Given the description of an element on the screen output the (x, y) to click on. 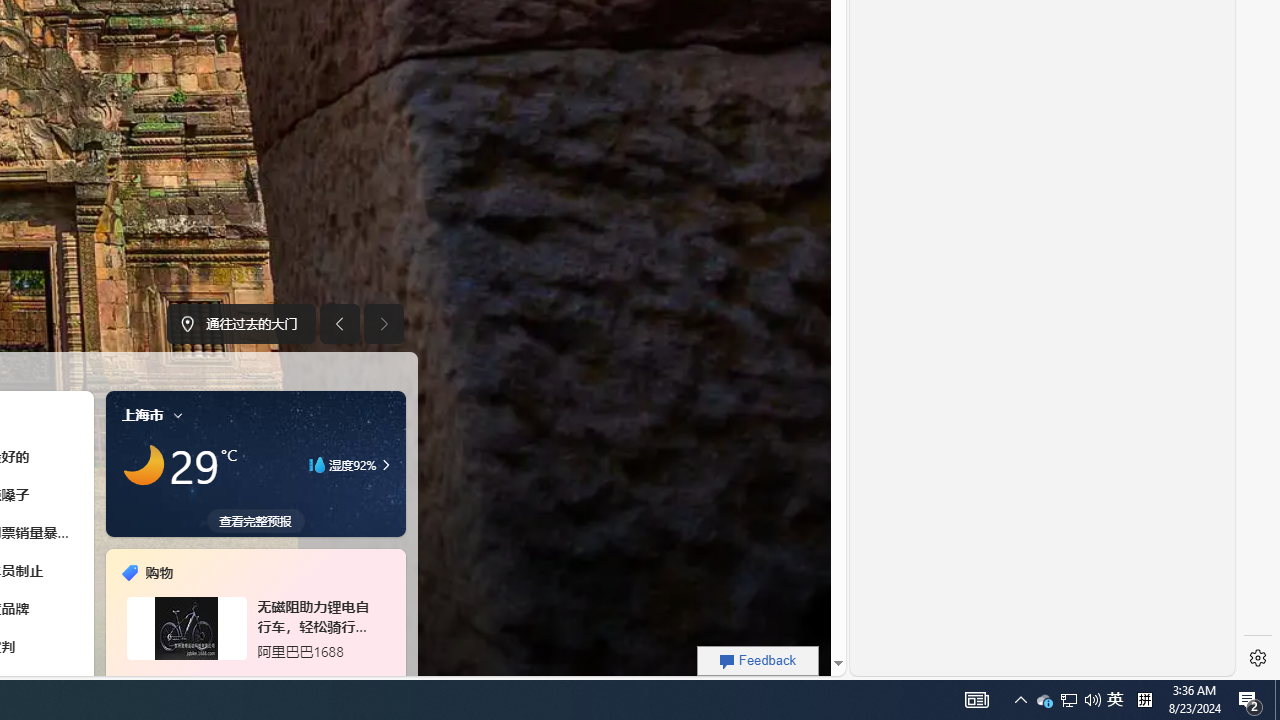
tab-2 (255, 678)
tab-0 (231, 678)
Class: weather-arrow-glyph (385, 464)
Next image (383, 323)
